Given the description of an element on the screen output the (x, y) to click on. 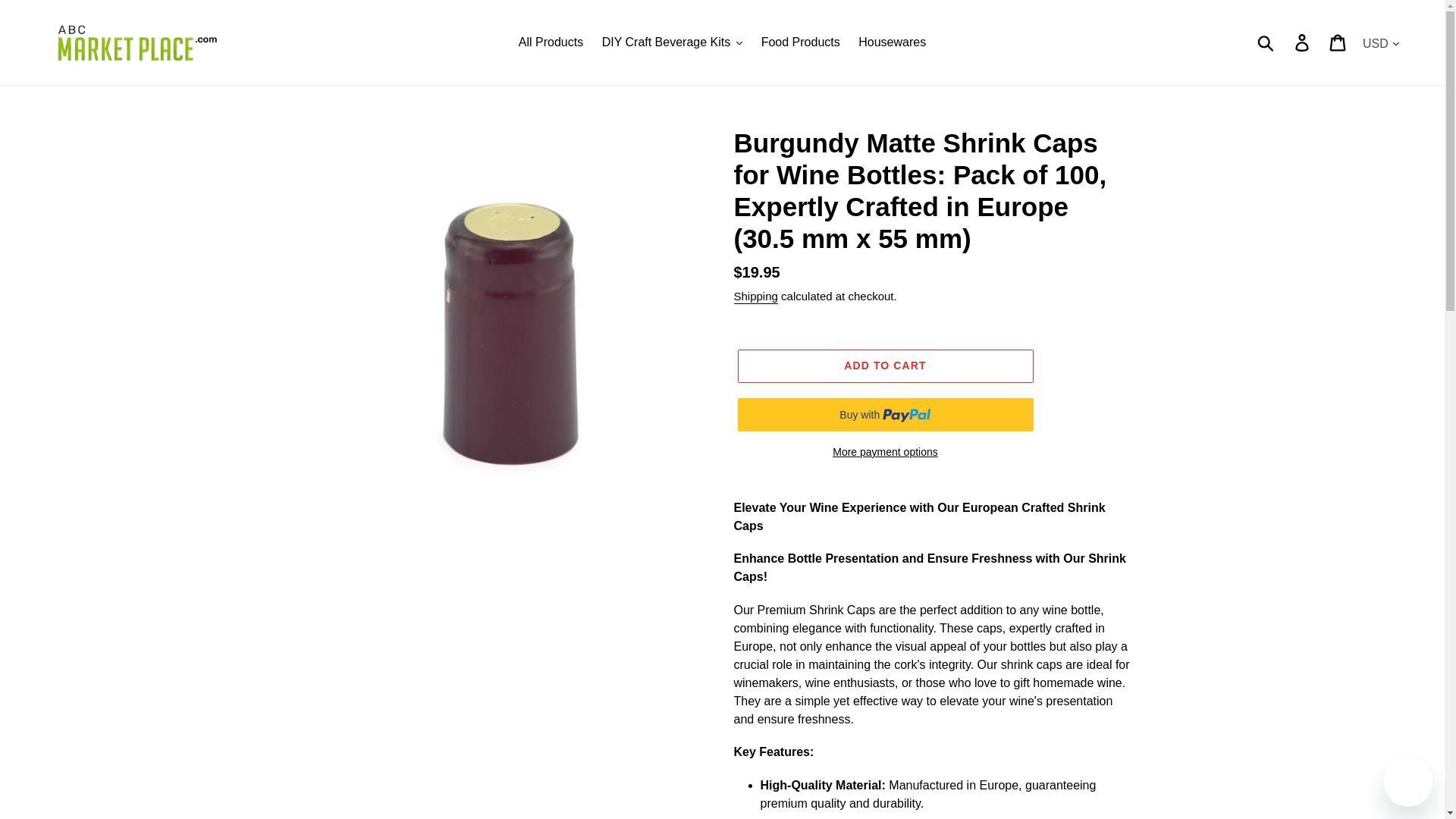
Housewares (891, 42)
Submit (1266, 41)
Shipping (755, 296)
ADD TO CART (884, 366)
All Products (551, 42)
More payment options (884, 452)
Food Products (800, 42)
Log in (1302, 41)
Cart (1338, 41)
